Given the description of an element on the screen output the (x, y) to click on. 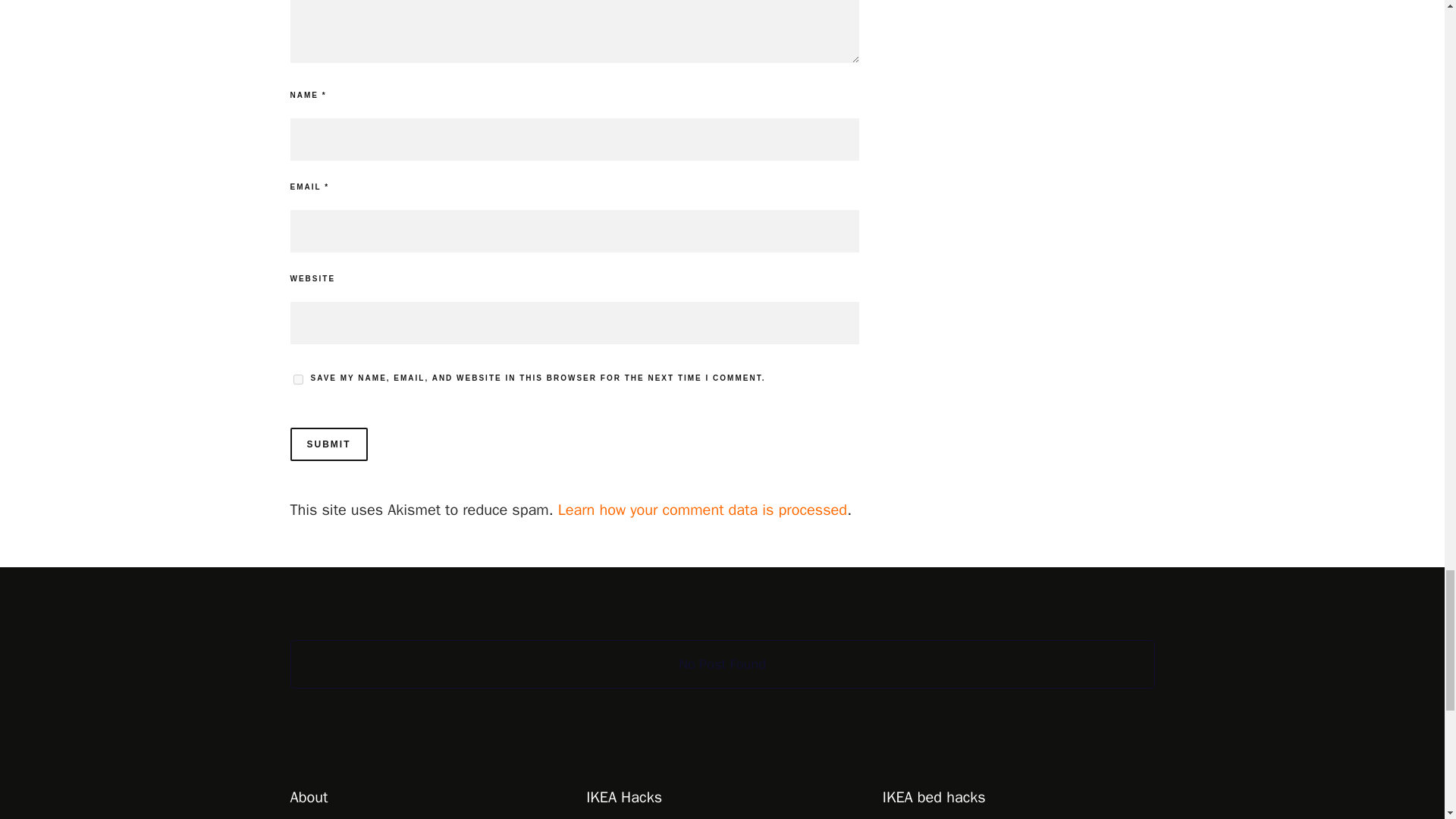
yes (297, 379)
Submit (327, 444)
